Given the description of an element on the screen output the (x, y) to click on. 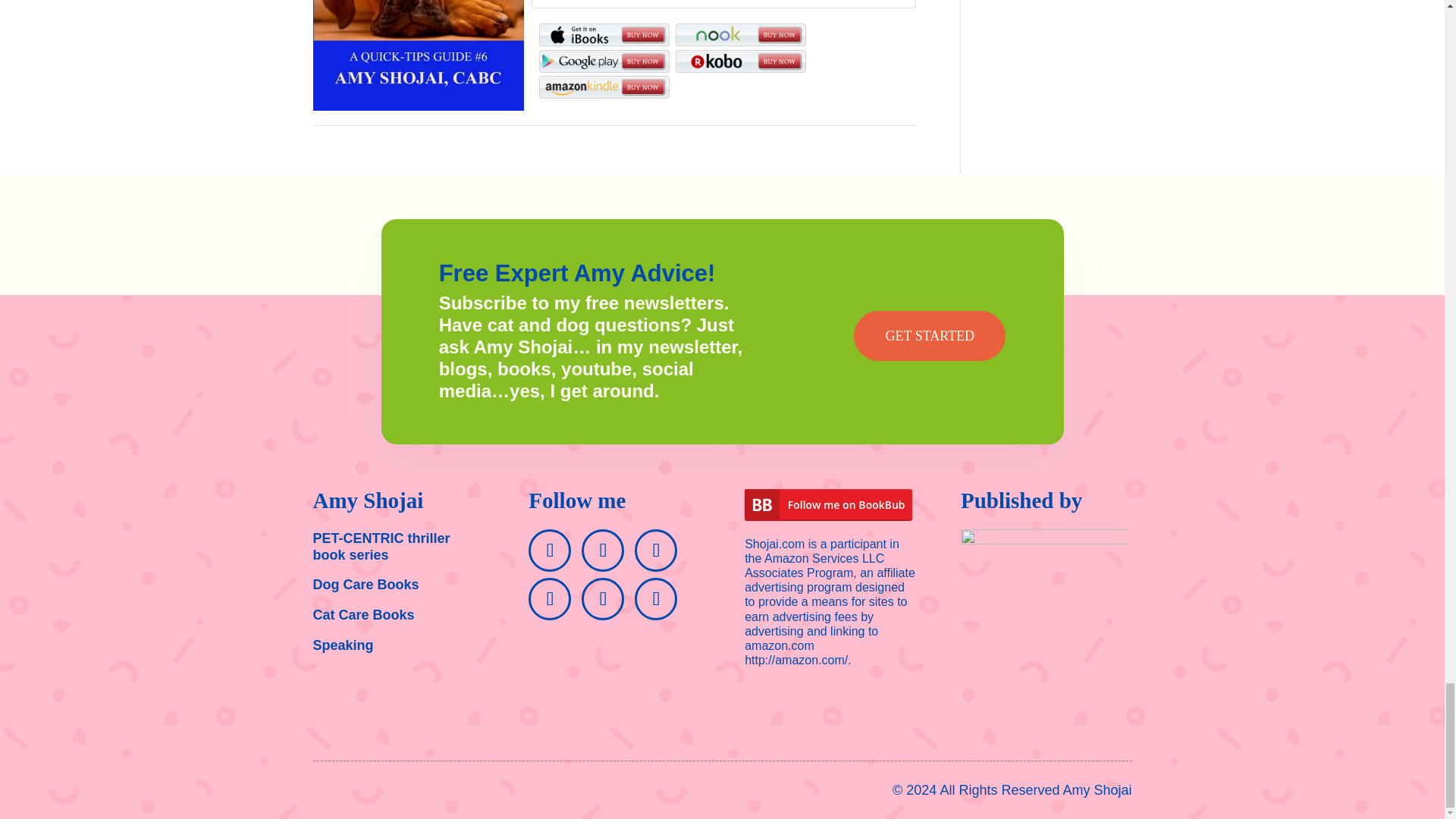
Follow on Instagram (602, 598)
Follow on Facebook (549, 550)
Follow on TikTok (655, 598)
Follow on LinkedIn (549, 598)
Follow on X (602, 550)
Follow on Youtube (655, 550)
